Given the description of an element on the screen output the (x, y) to click on. 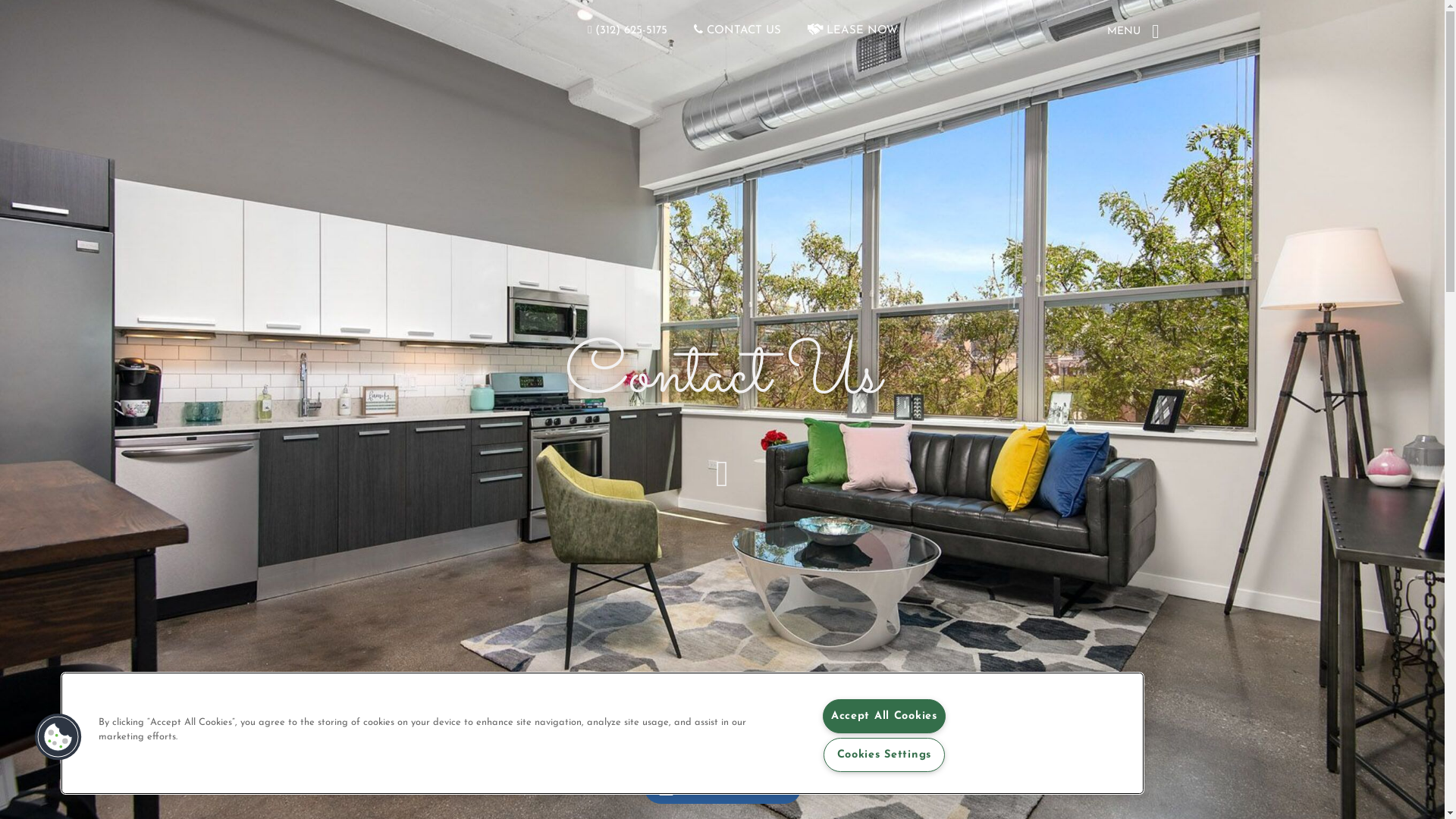
Accept All Cookies Element type: text (883, 716)
(312) 625-5175 Element type: text (627, 30)
CONTACT US Element type: text (737, 30)
MENU Element type: text (1135, 31)
Cookies Button Element type: text (58, 736)
Schedule Appointment Element type: text (721, 786)
Cookies Settings Element type: text (883, 754)
LEASE NOW Element type: text (852, 30)
